Given the description of an element on the screen output the (x, y) to click on. 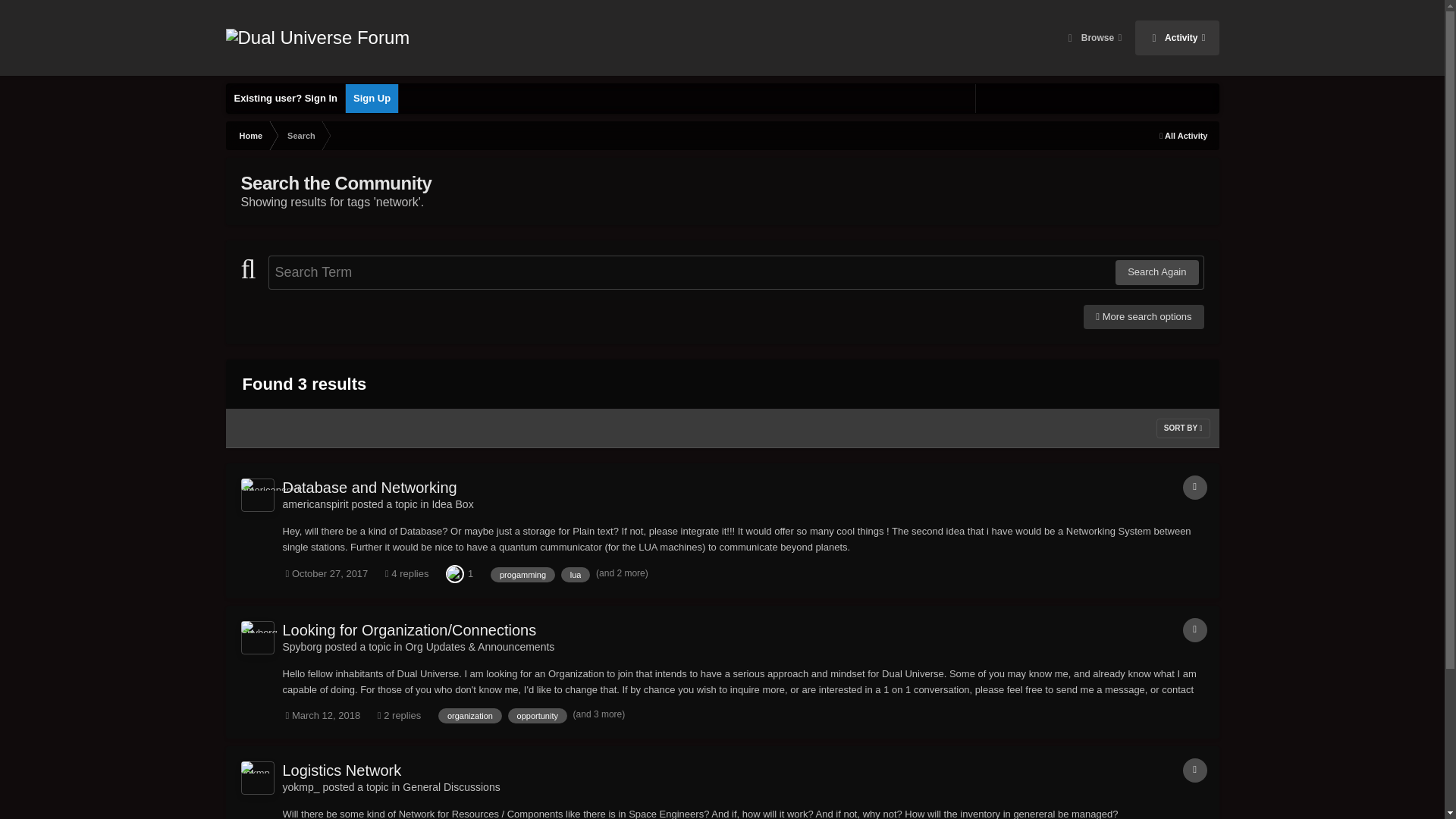
More search options (1143, 316)
Find other content tagged with 'lua' (575, 574)
Go to Spyborg's profile (301, 646)
Topic (1194, 487)
Activity (1176, 37)
Sign Up (371, 98)
Go to americanspirit's profile (314, 503)
Search Again (1156, 272)
Home (250, 135)
Home (250, 135)
Topic (1194, 630)
Search (299, 135)
Find other content tagged with 'progamming' (522, 574)
All Activity (1183, 135)
Go to americanspirit's profile (258, 494)
